Given the description of an element on the screen output the (x, y) to click on. 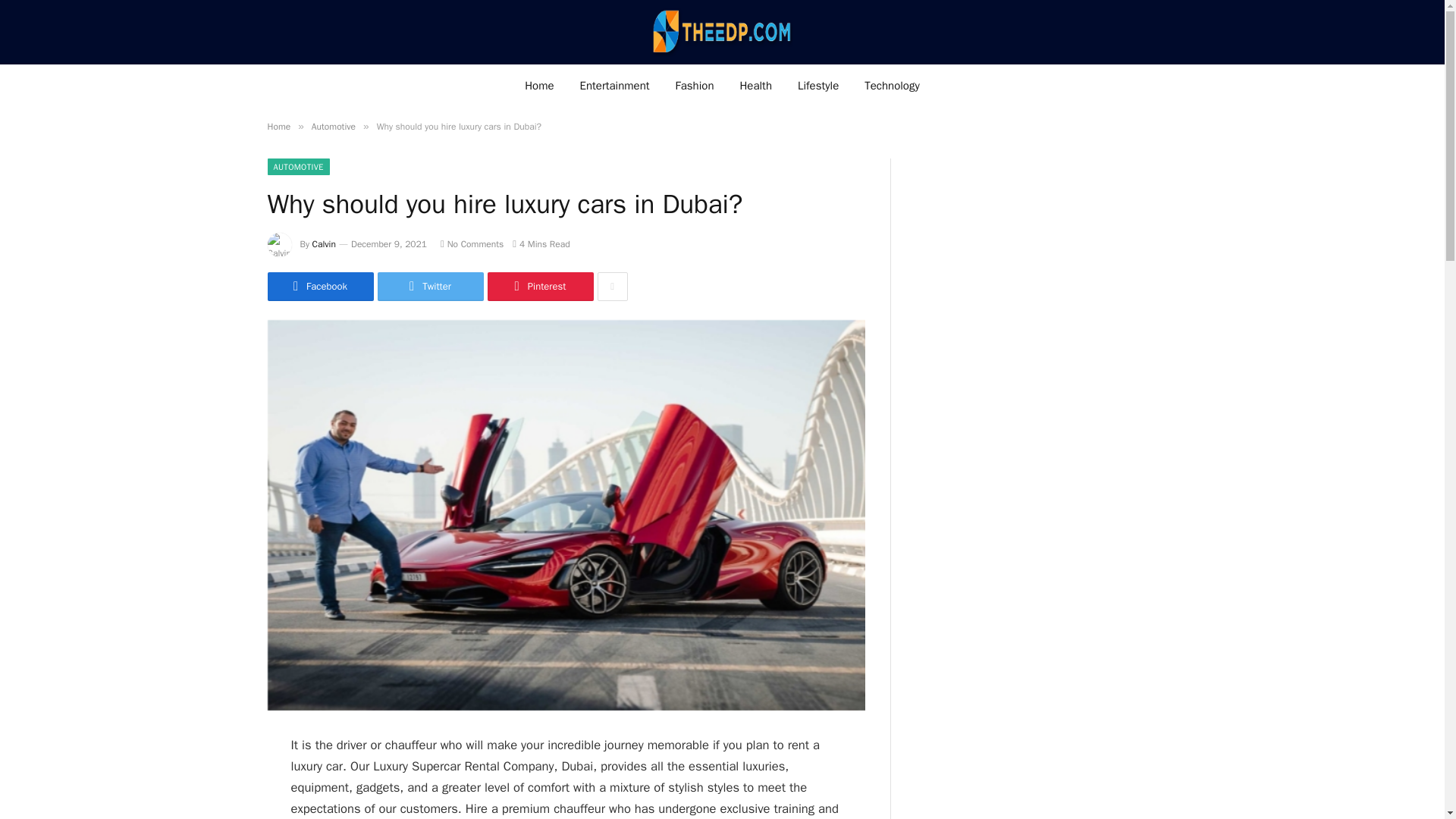
Share on Facebook (319, 286)
Pinterest (539, 286)
AUTOMOTIVE (297, 166)
Automotive (333, 126)
Posts by Calvin (324, 244)
Twitter (430, 286)
Technology (892, 85)
Show More Social Sharing (611, 286)
Fashion (694, 85)
Share on Pinterest (539, 286)
Entertainment (614, 85)
Home (539, 85)
Calvin (324, 244)
Facebook (319, 286)
